Given the description of an element on the screen output the (x, y) to click on. 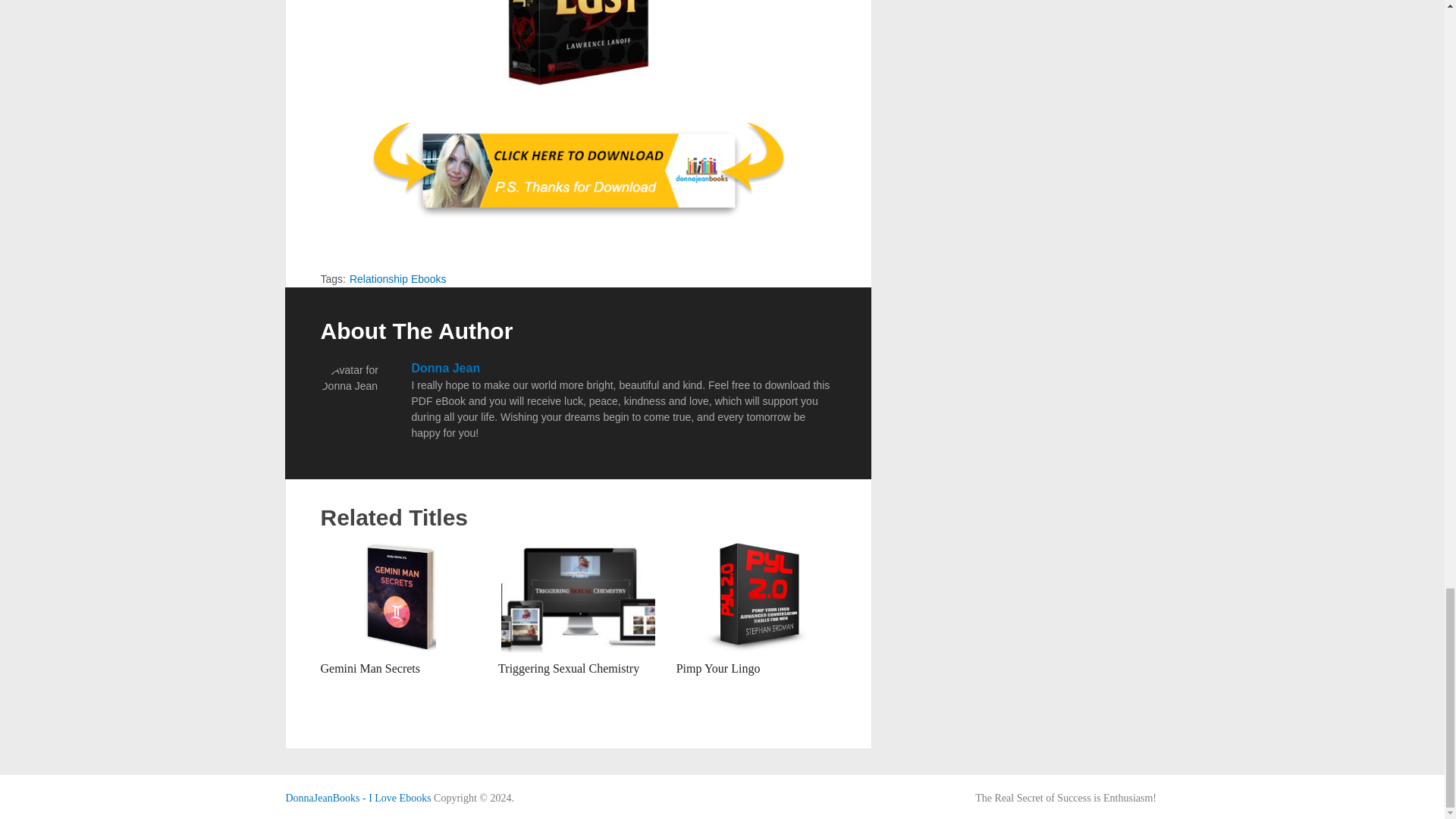
Pimp Your Lingo (718, 667)
Donna Jean (445, 367)
Triggering Sexual Chemistry (577, 597)
Gemini Man Secrets (370, 667)
Gemini Man Secrets (370, 667)
Relationship Ebooks (397, 278)
Gemini Man Secrets (400, 597)
Pimp Your Lingo (718, 667)
Triggering Sexual Chemistry (568, 667)
Pimp Your Lingo (756, 597)
Triggering Sexual Chemistry (568, 667)
Gravatar for Donna Jean (358, 400)
